Given the description of an element on the screen output the (x, y) to click on. 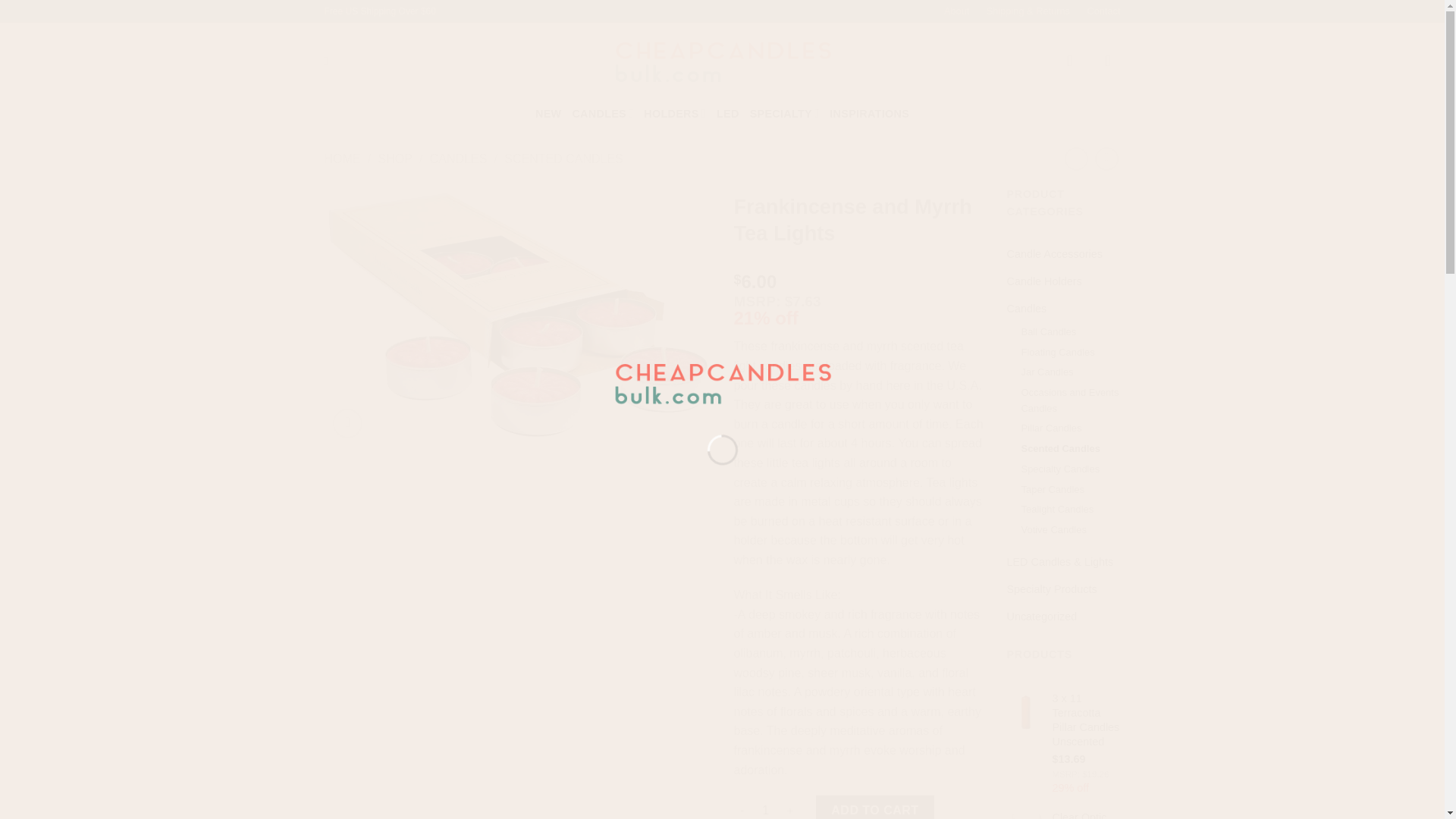
NEW (547, 113)
About (956, 11)
INSPIRATIONS (868, 113)
SPECIALTY (784, 112)
1 (765, 807)
Contact (1102, 11)
HOLDERS (674, 112)
CANDLES (602, 112)
